Given the description of an element on the screen output the (x, y) to click on. 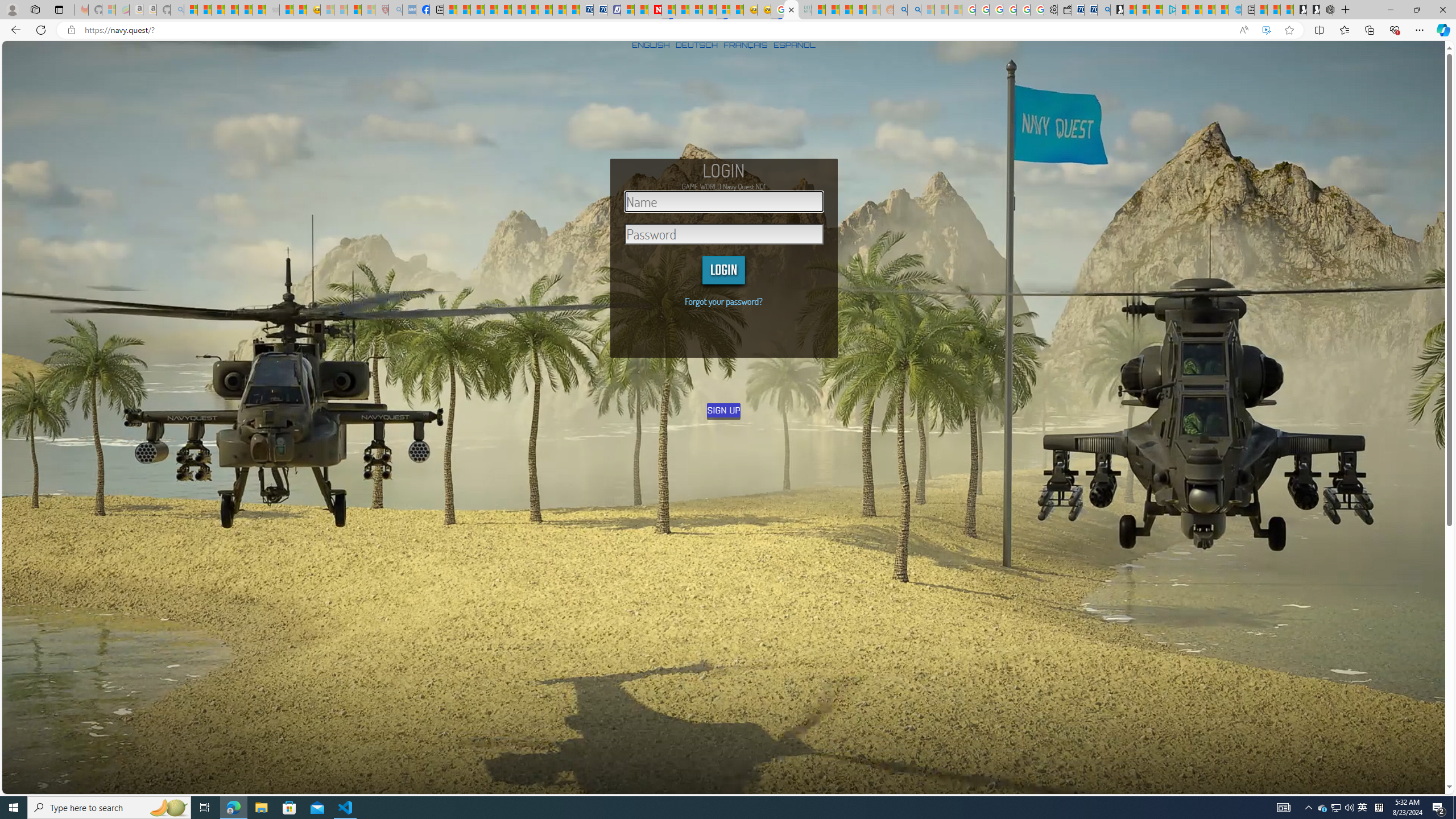
The Weather Channel - MSN (218, 9)
Cheap Hotels - Save70.com (599, 9)
